Given the description of an element on the screen output the (x, y) to click on. 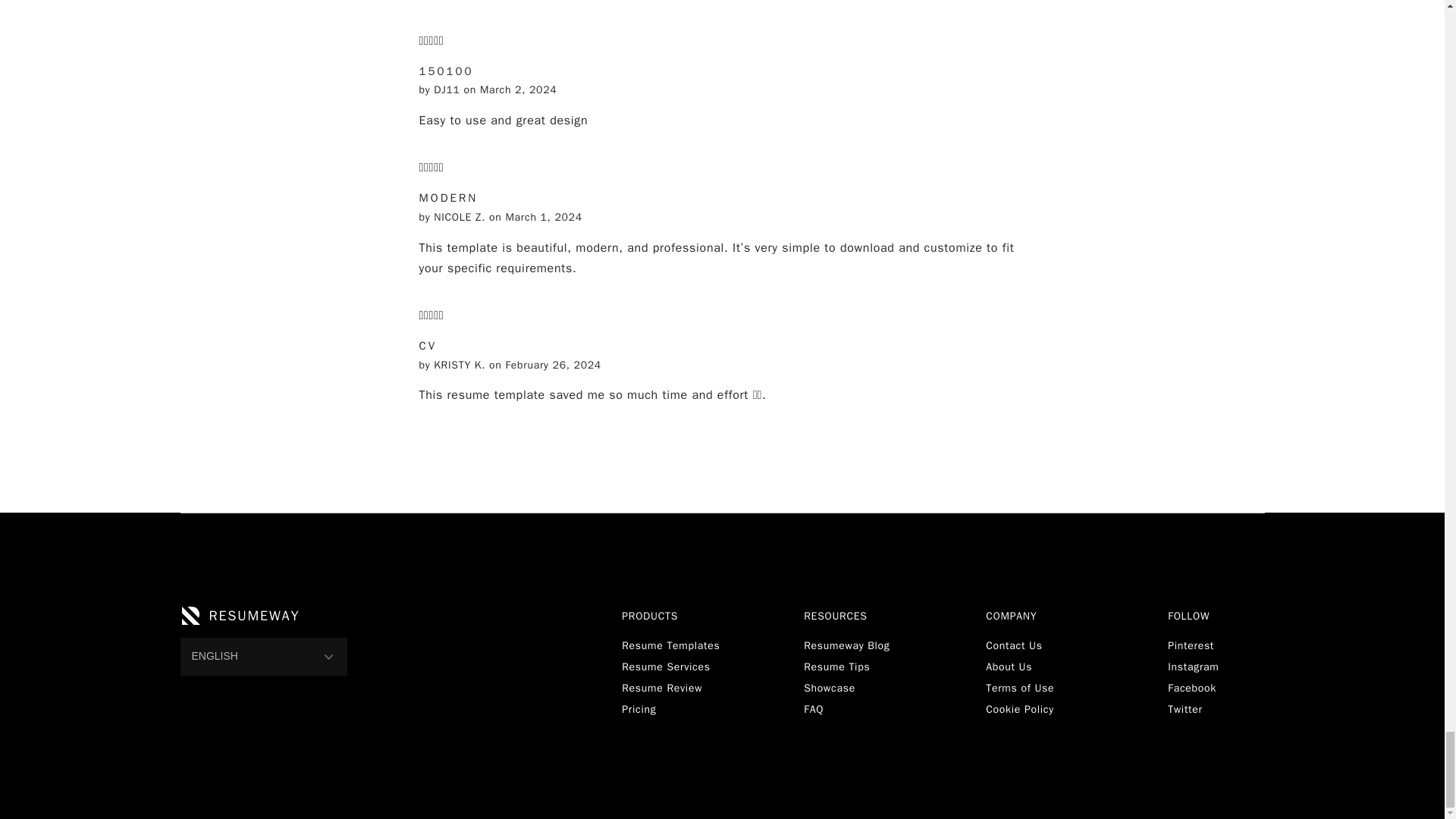
Resume Templates (670, 645)
